Given the description of an element on the screen output the (x, y) to click on. 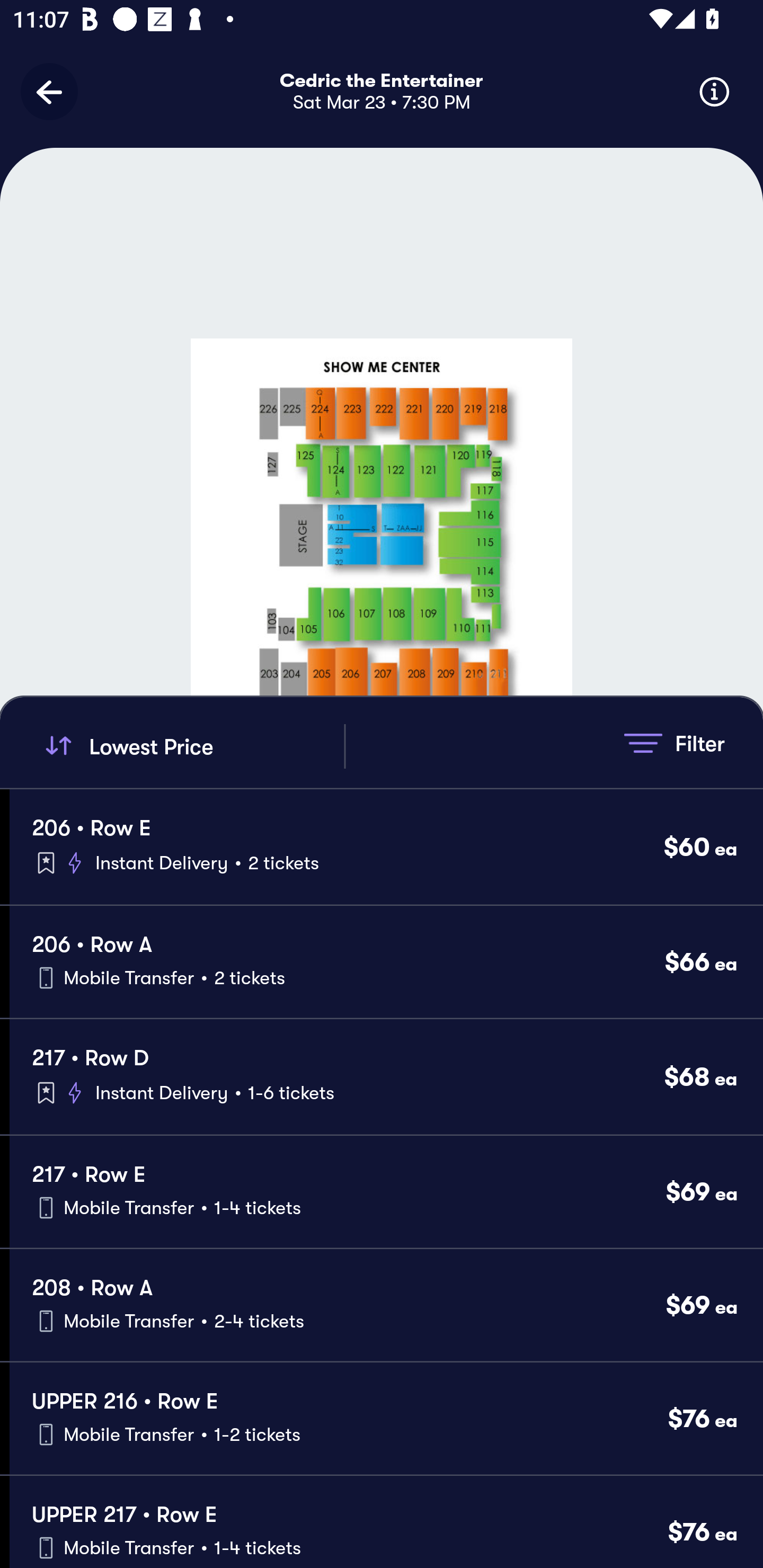
Lowest Price (191, 746)
Filter (674, 743)
206 • Row E Instant Delivery • 2 tickets $60 ea (386, 846)
206 • Row A Mobile Transfer • 2 tickets $66 ea (386, 961)
217 • Row D Instant Delivery • 1-6 tickets $68 ea (386, 1076)
217 • Row E Mobile Transfer • 1-4 tickets $69 ea (386, 1191)
208 • Row A Mobile Transfer • 2-4 tickets $69 ea (386, 1305)
